Given the description of an element on the screen output the (x, y) to click on. 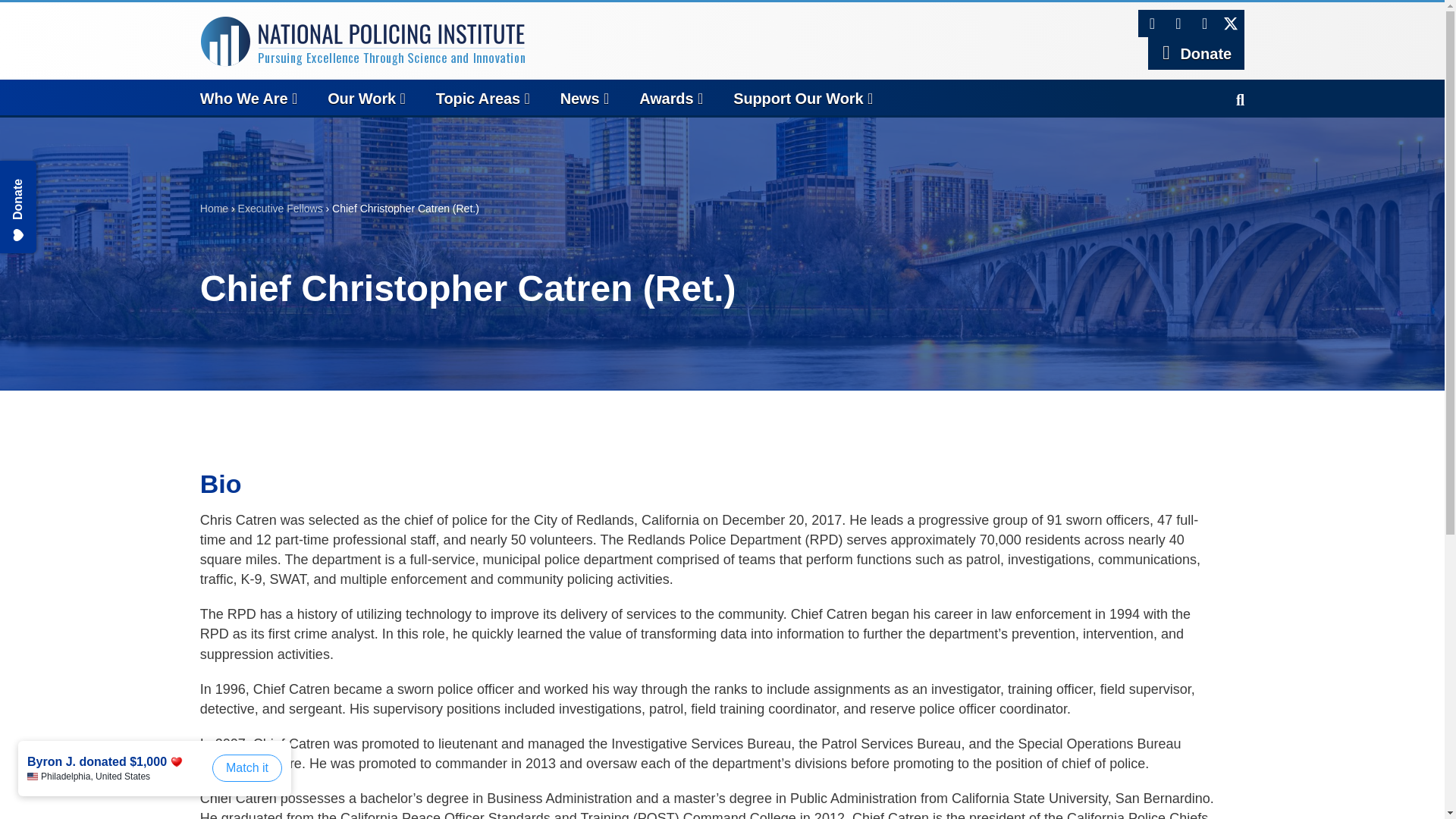
Topic Areas (497, 97)
Donate (1196, 53)
News (600, 97)
NPI-logo-5-header transp 2 (362, 41)
Awards (686, 97)
Who We Are (263, 97)
Our Work (381, 97)
